Given the description of an element on the screen output the (x, y) to click on. 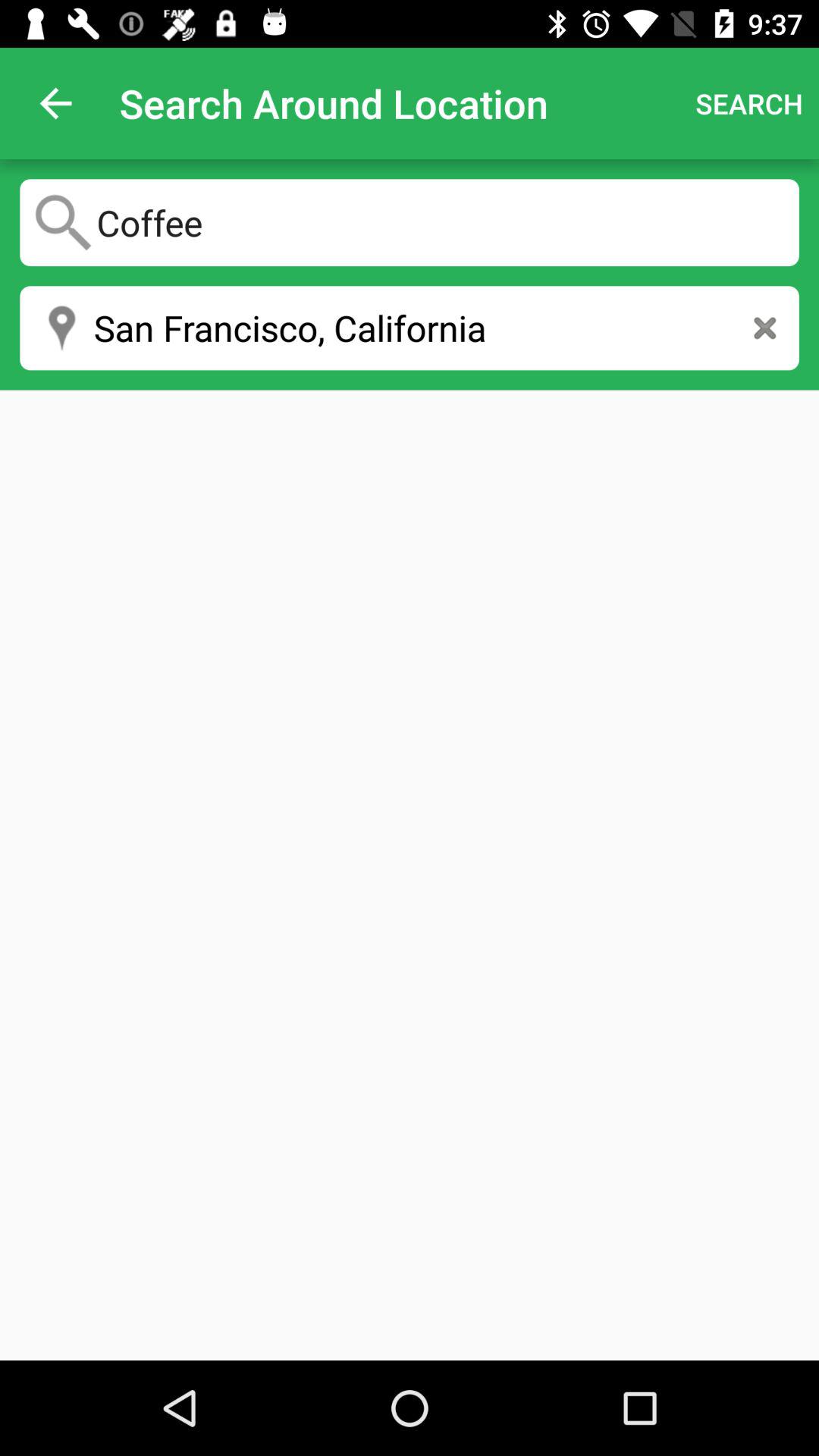
swipe until coffee icon (409, 222)
